Given the description of an element on the screen output the (x, y) to click on. 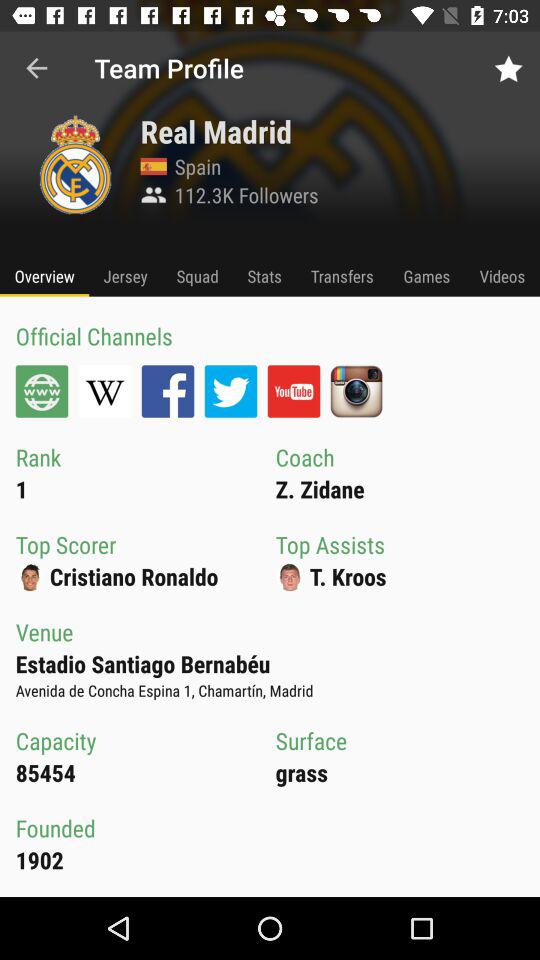
select your option (293, 391)
